Given the description of an element on the screen output the (x, y) to click on. 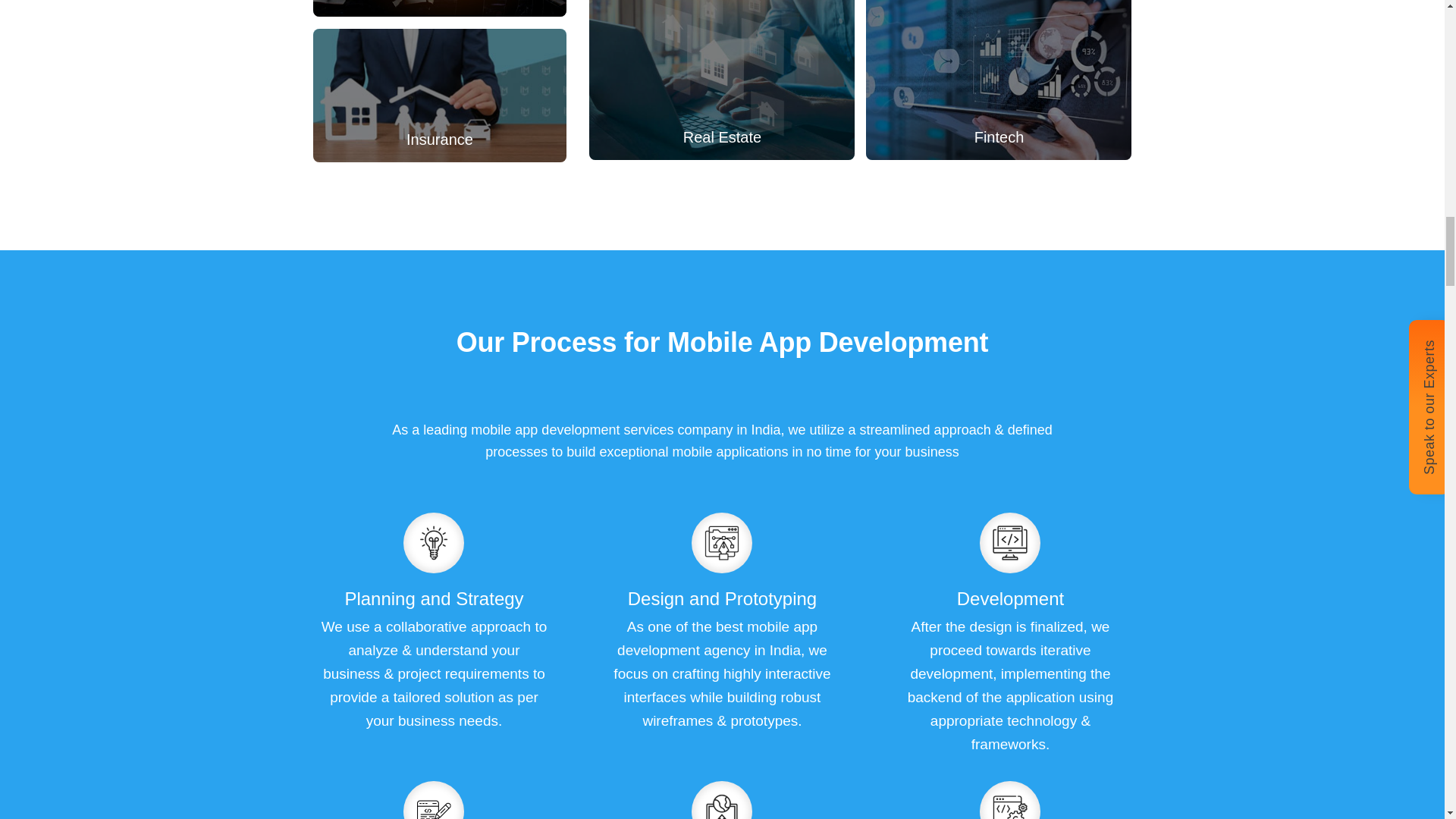
Ideation (433, 542)
Development (1010, 542)
Maintenance and Updates (1010, 805)
Launch (433, 805)
Design (722, 542)
Deployment (722, 805)
